Given the description of an element on the screen output the (x, y) to click on. 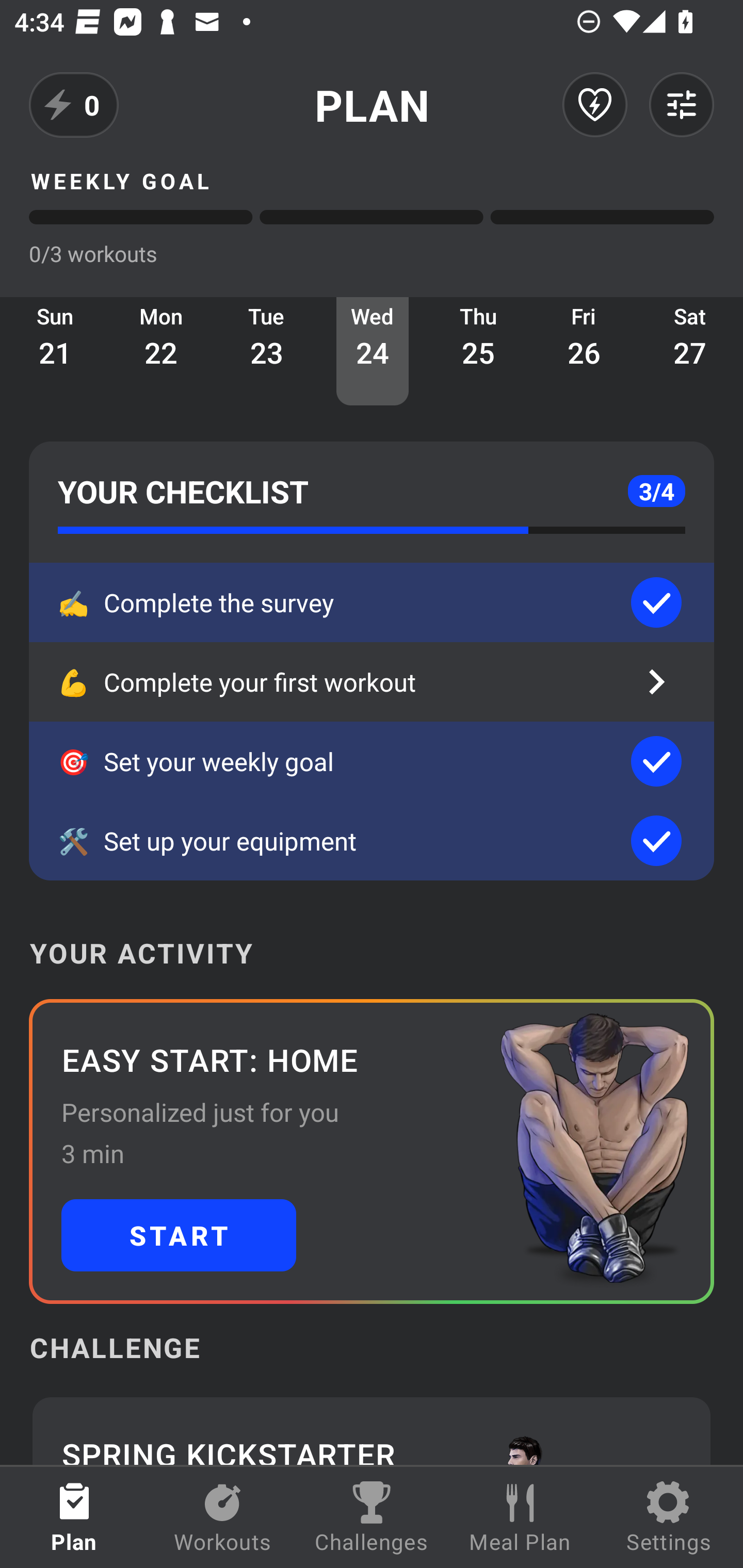
0 (73, 104)
Sun 21 (55, 351)
Mon 22 (160, 351)
Tue 23 (266, 351)
Wed 24 (372, 351)
Thu 25 (478, 351)
Fri 26 (584, 351)
Sat 27 (690, 351)
💪 Complete your first workout (371, 681)
START (178, 1235)
 Workouts  (222, 1517)
 Challenges  (371, 1517)
 Meal Plan  (519, 1517)
 Settings  (668, 1517)
